Given the description of an element on the screen output the (x, y) to click on. 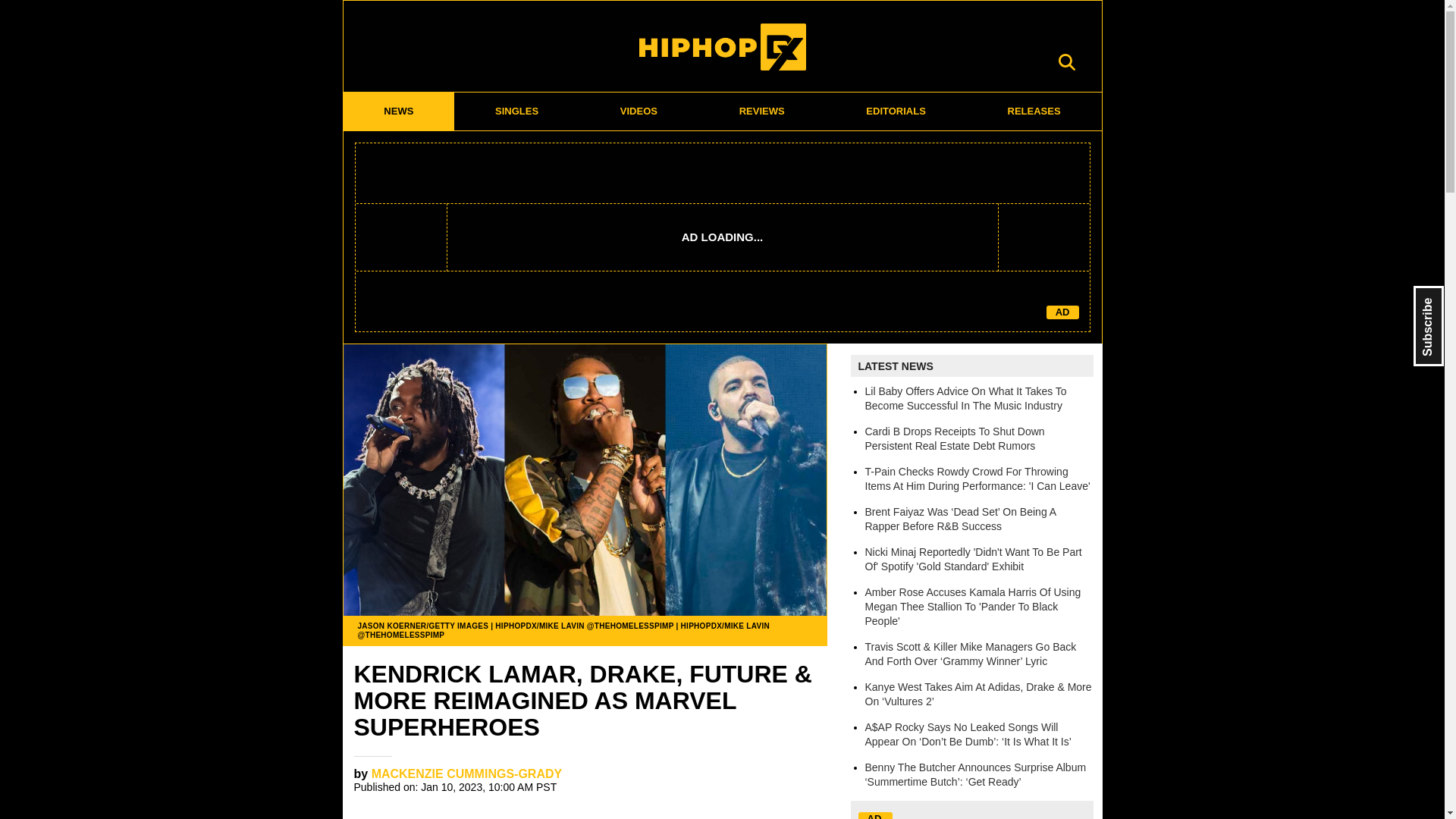
Future (516, 817)
4 (810, 779)
EDITORIALS (895, 111)
REVIEWS (761, 111)
SINGLES (516, 111)
RELEASES (1034, 111)
Kendrick Lamar, (403, 817)
NEWS (398, 111)
VIDEOS (638, 111)
MACKENZIE CUMMINGS-GRADY (466, 773)
